Given the description of an element on the screen output the (x, y) to click on. 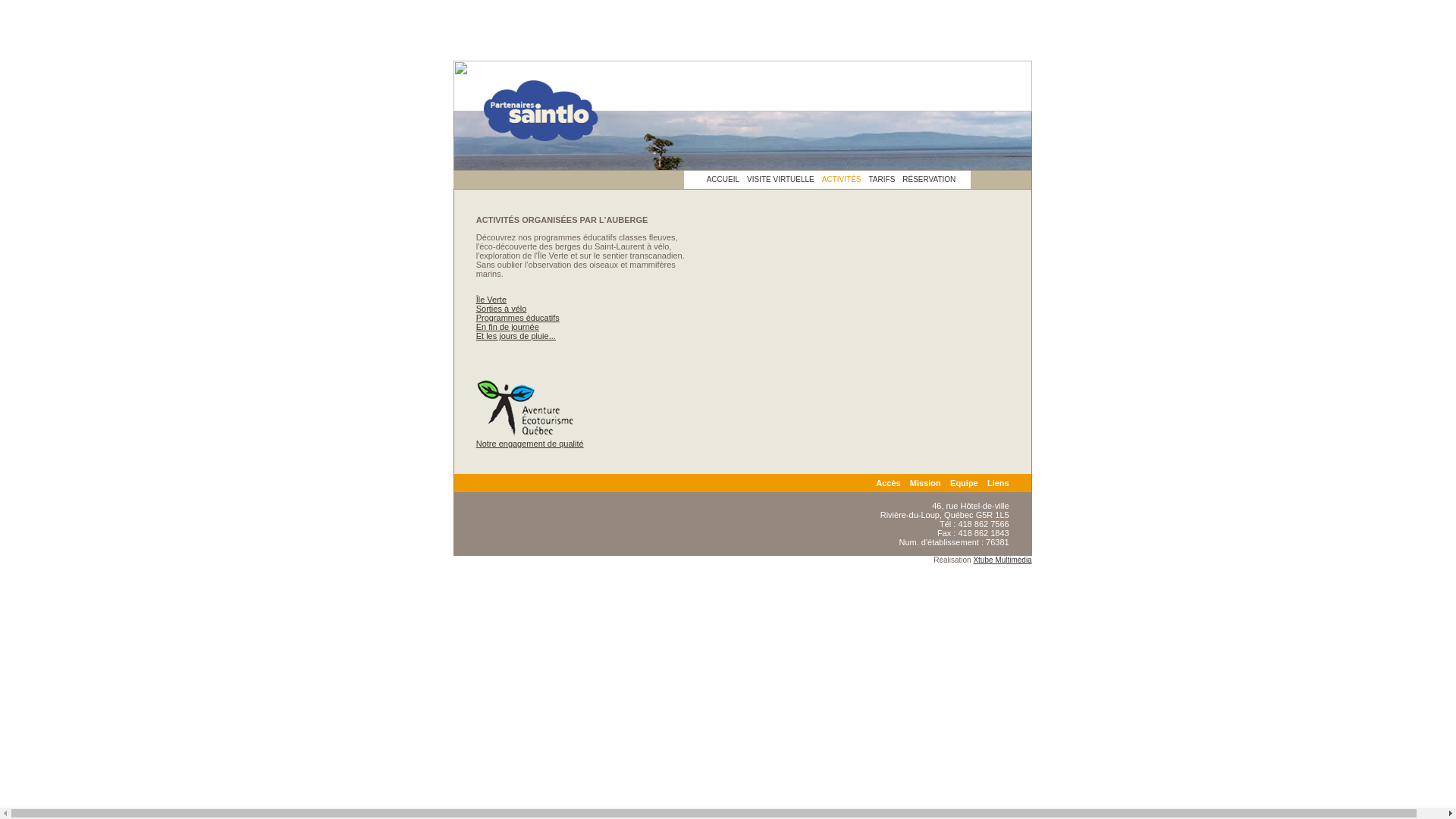
Mission Element type: text (925, 482)
TARIFS Element type: text (881, 179)
Equipe Element type: text (964, 482)
ACCUEIL Element type: text (722, 179)
Et les jours de pluie... Element type: text (515, 335)
Liens Element type: text (998, 482)
VISITE VIRTUELLE Element type: text (780, 179)
